Given the description of an element on the screen output the (x, y) to click on. 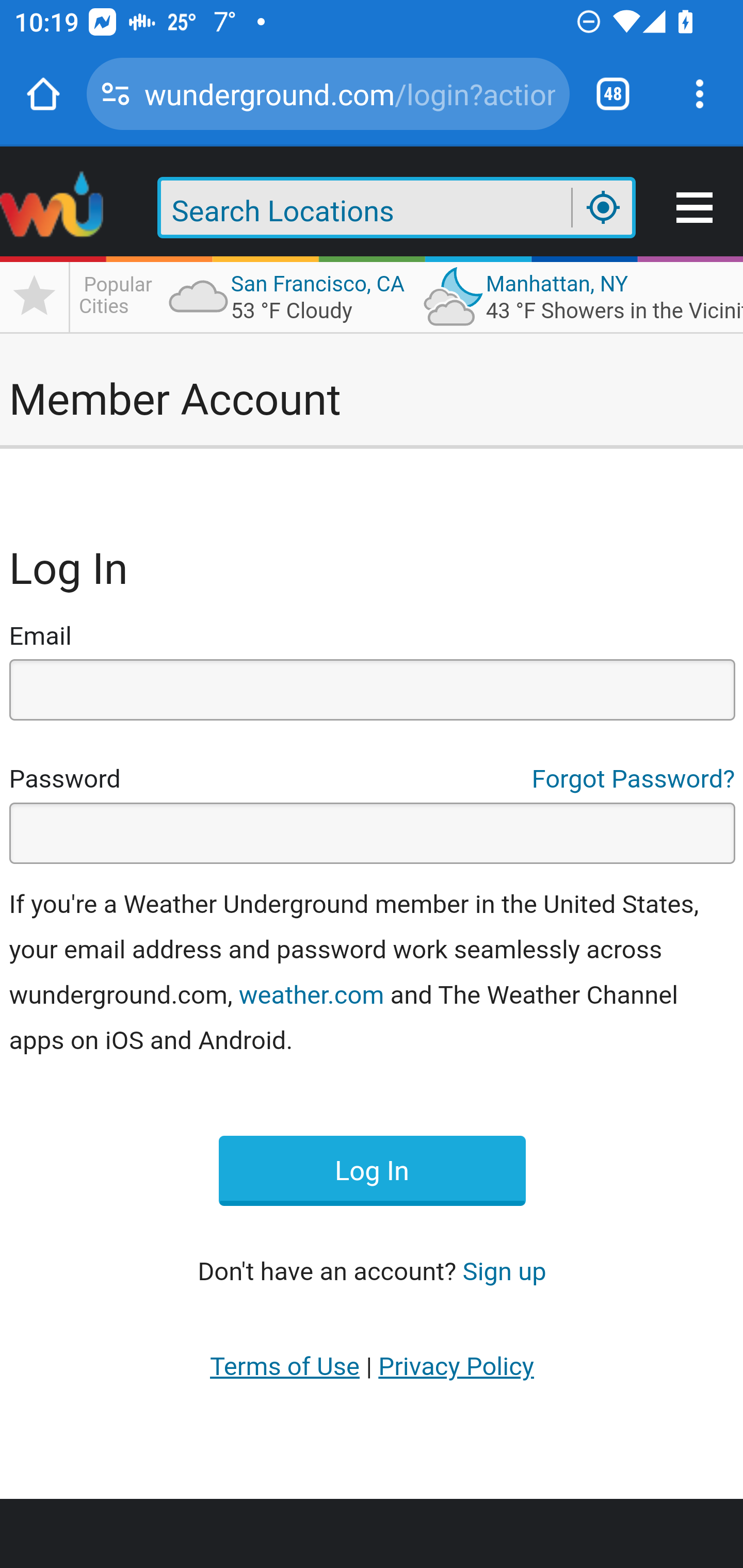
Open the home page (43, 93)
Connection is secure (115, 93)
Switch or close tabs (612, 93)
Customize and control Google Chrome (699, 93)
wunderground.com/login?action=member-favorites (349, 92)
Weather Underground Logo _ (52, 208)
Menu (695, 208)
Manage Favorites star (34, 296)
Forgot Password? (634, 778)
weather.com (311, 994)
Log In (371, 1170)
Sign up (504, 1271)
Terms of Use (285, 1366)
Privacy Policy (455, 1366)
